Given the description of an element on the screen output the (x, y) to click on. 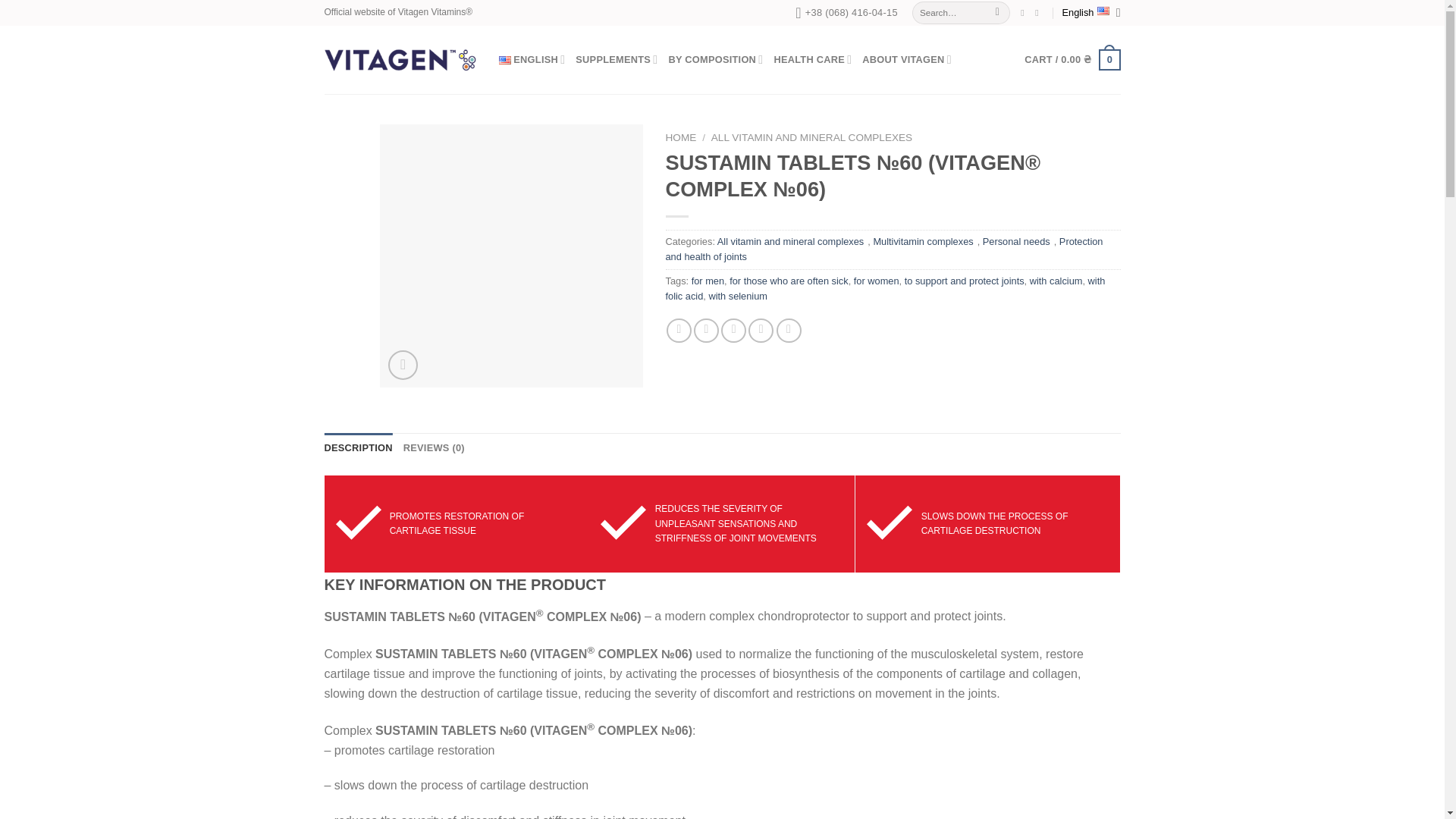
Share on Facebook (678, 330)
Search (998, 12)
Cart (1072, 59)
Email to a Friend (732, 330)
English (1090, 12)
Pin on Pinterest (760, 330)
Share on LinkedIn (789, 330)
Zoom (402, 365)
BY COMPOSITION (715, 60)
ENGLISH (532, 60)
